Given the description of an element on the screen output the (x, y) to click on. 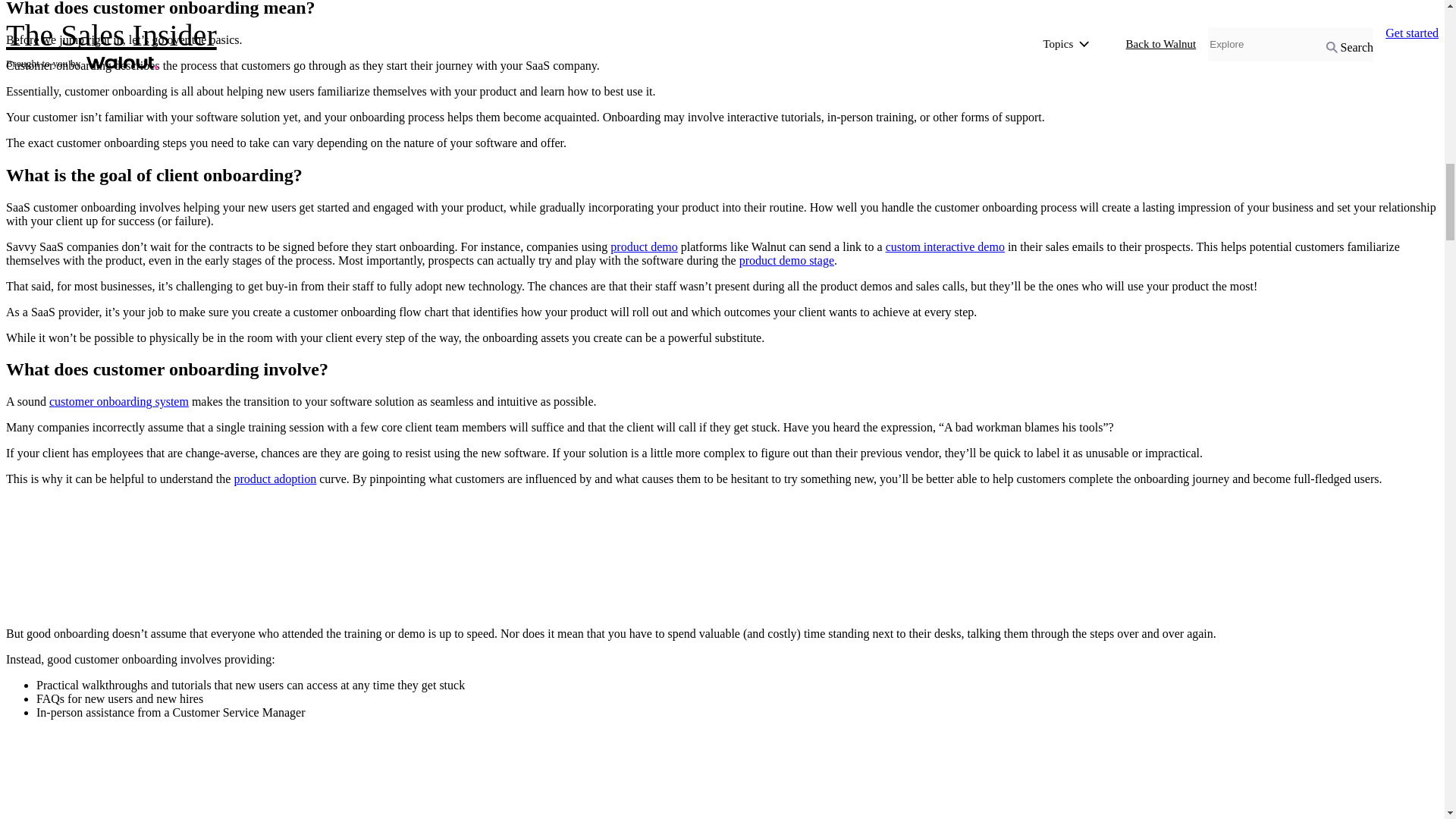
product adoption (273, 478)
custom interactive demo (944, 246)
customer onboarding system (119, 400)
product demo (643, 246)
product demo stage (786, 259)
